Given the description of an element on the screen output the (x, y) to click on. 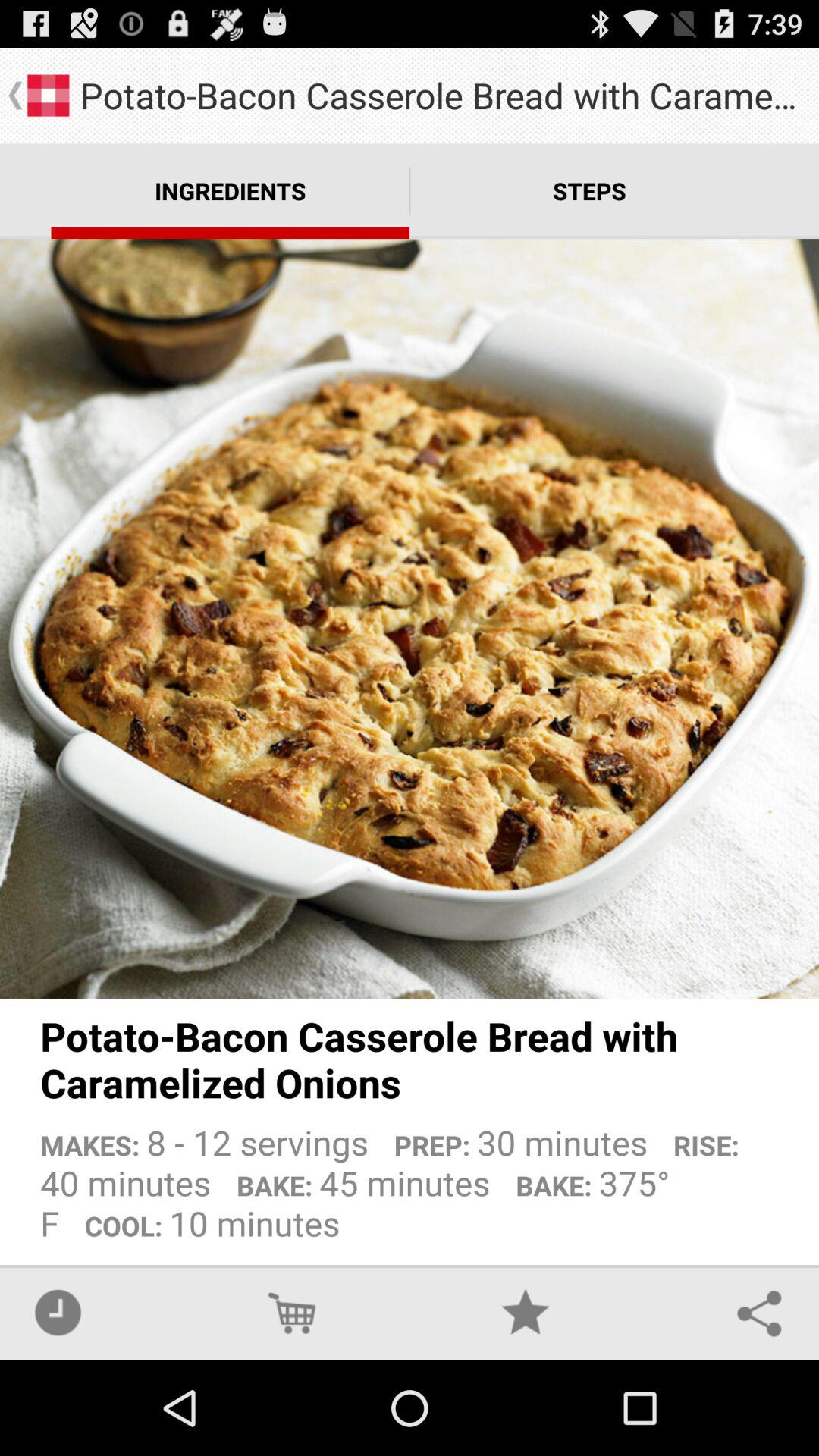
launch app below the ingredients (409, 618)
